Given the description of an element on the screen output the (x, y) to click on. 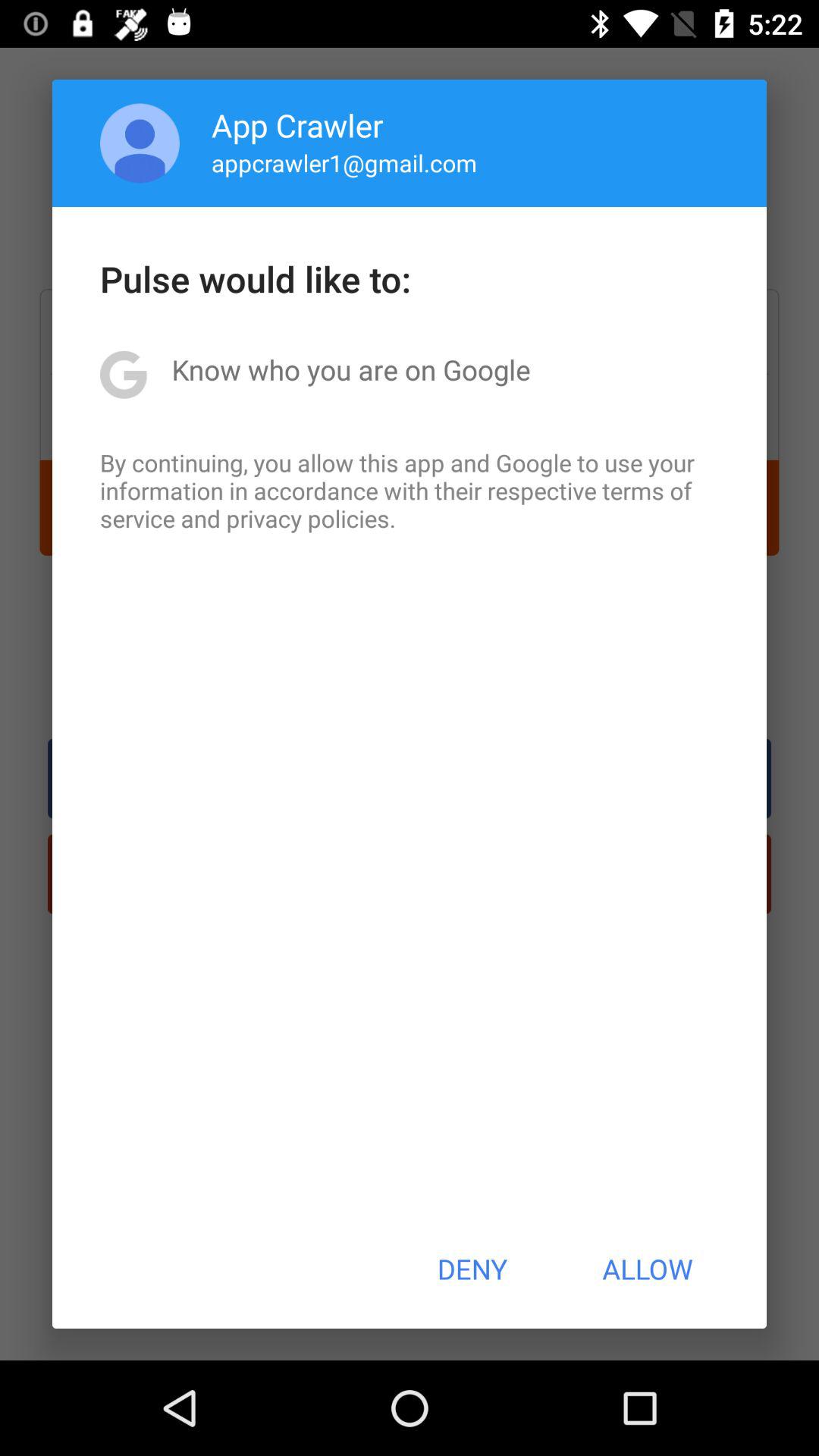
swipe to app crawler item (297, 124)
